Given the description of an element on the screen output the (x, y) to click on. 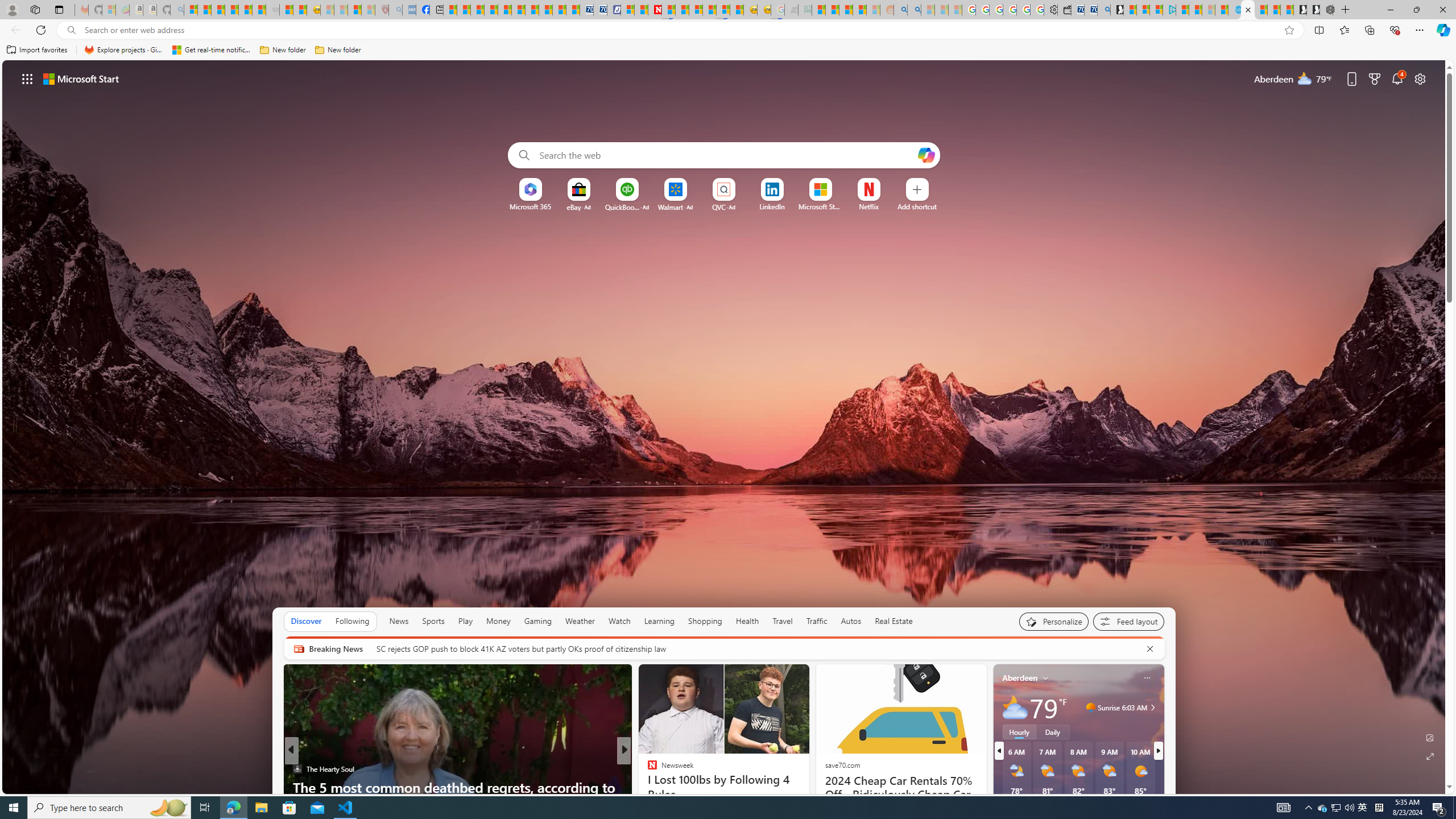
save70.com (842, 764)
next (1158, 751)
The Hearty Soul (296, 768)
Import favorites (36, 49)
